Given the description of an element on the screen output the (x, y) to click on. 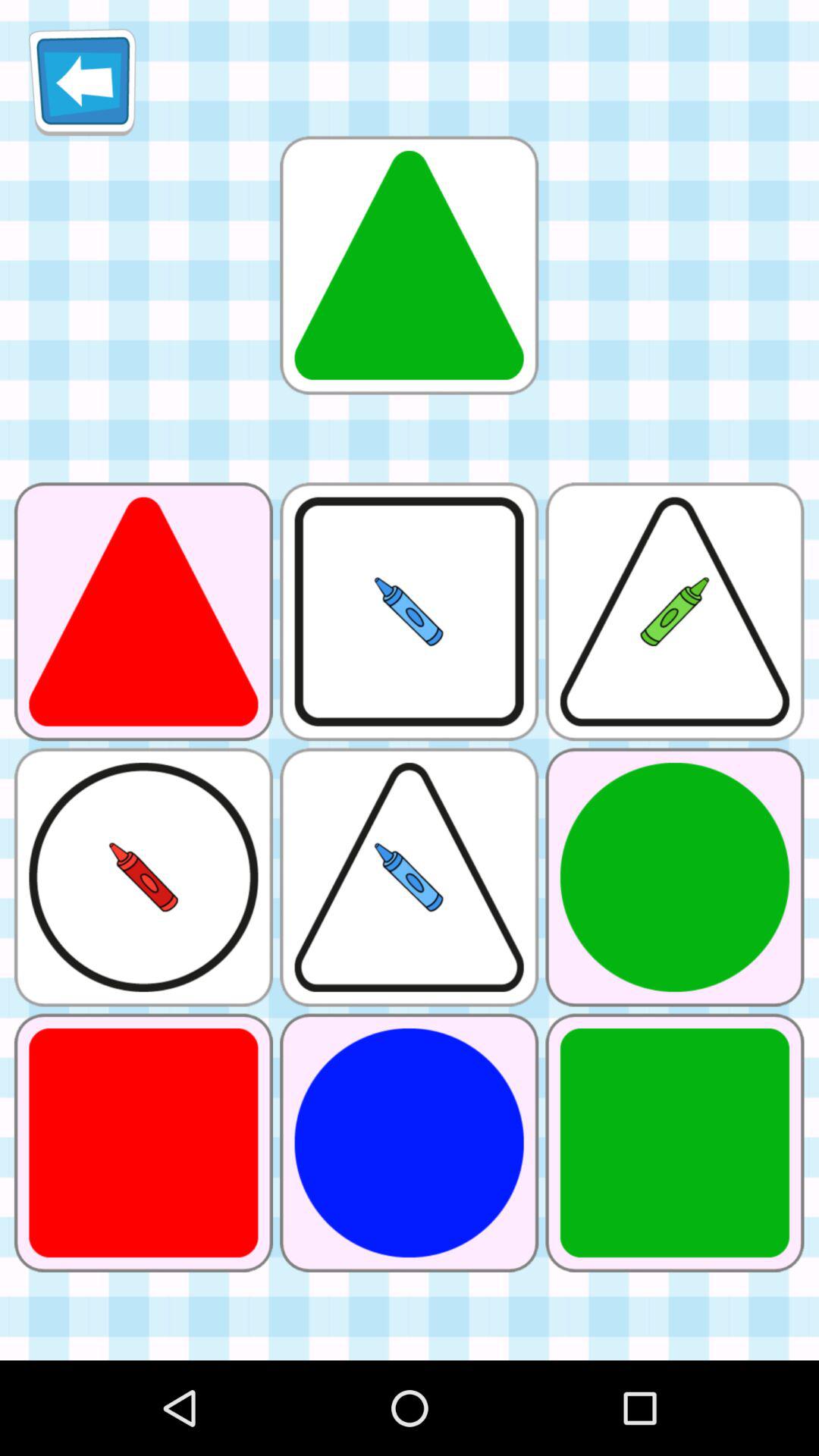
choose next move (409, 265)
